Given the description of an element on the screen output the (x, y) to click on. 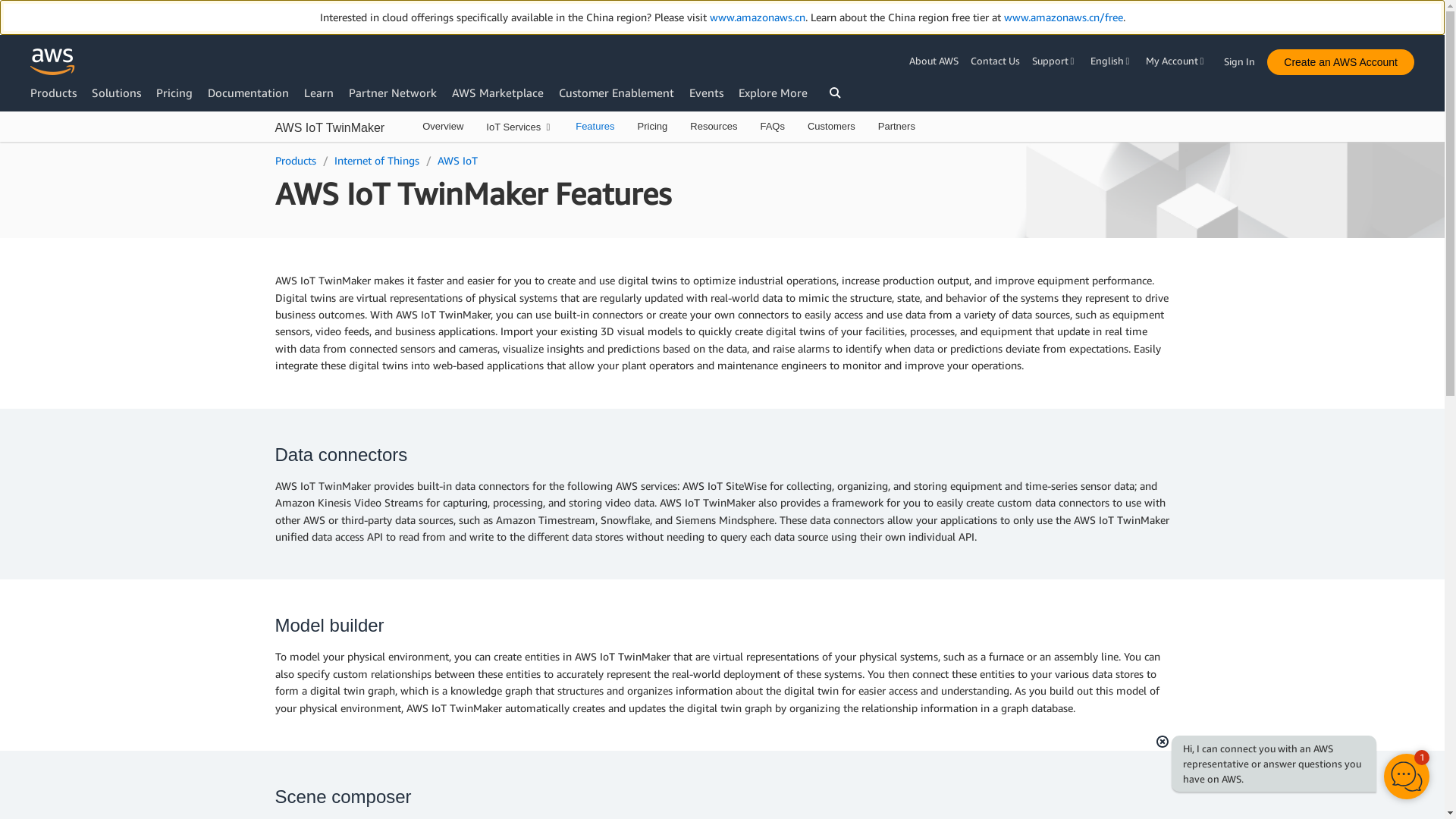
Support  (1055, 60)
AWS Marketplace (497, 92)
Pricing (173, 92)
Customer Enablement (616, 92)
My Account  (1177, 60)
Documentation (248, 92)
Contact Us (994, 60)
Create an AWS Account (1339, 62)
www.amazonaws.cn (757, 16)
Sign In (1244, 58)
English  (1112, 60)
About AWS (935, 60)
Products (53, 92)
Solutions (116, 92)
Explore More (773, 92)
